Given the description of an element on the screen output the (x, y) to click on. 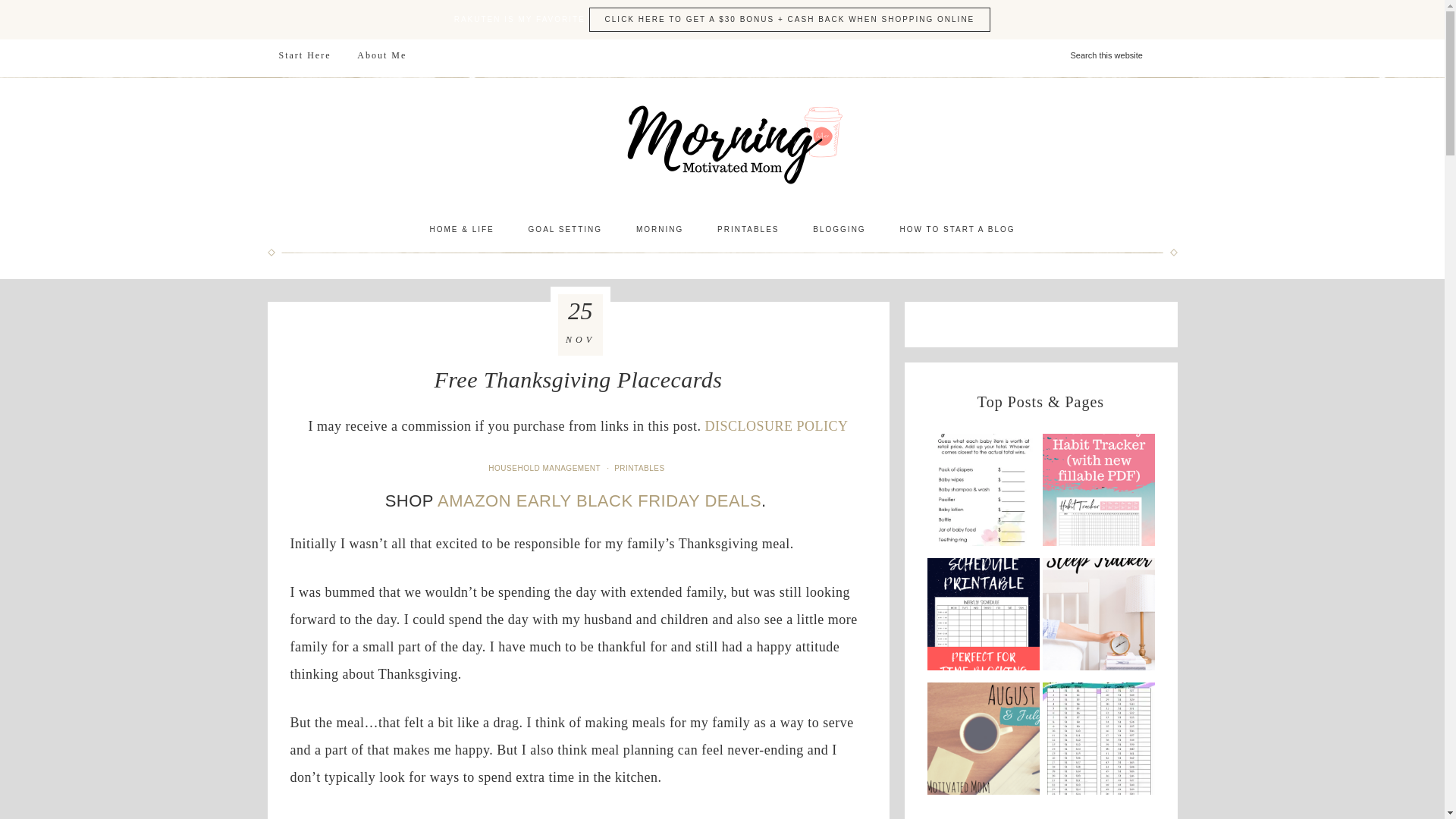
PRINTABLES (747, 229)
BLOGGING (838, 229)
Monthly Habit Tracker Printable (1098, 494)
Money Saving Challenge for Kids with Printable (1098, 742)
PRINTABLES (641, 468)
MORNING (659, 229)
MORNING MOTIVATED MOM (722, 144)
DISCLOSURE POLICY (775, 426)
AMAZON EARLY BLACK FRIDAY DEALS (599, 500)
